Given the description of an element on the screen output the (x, y) to click on. 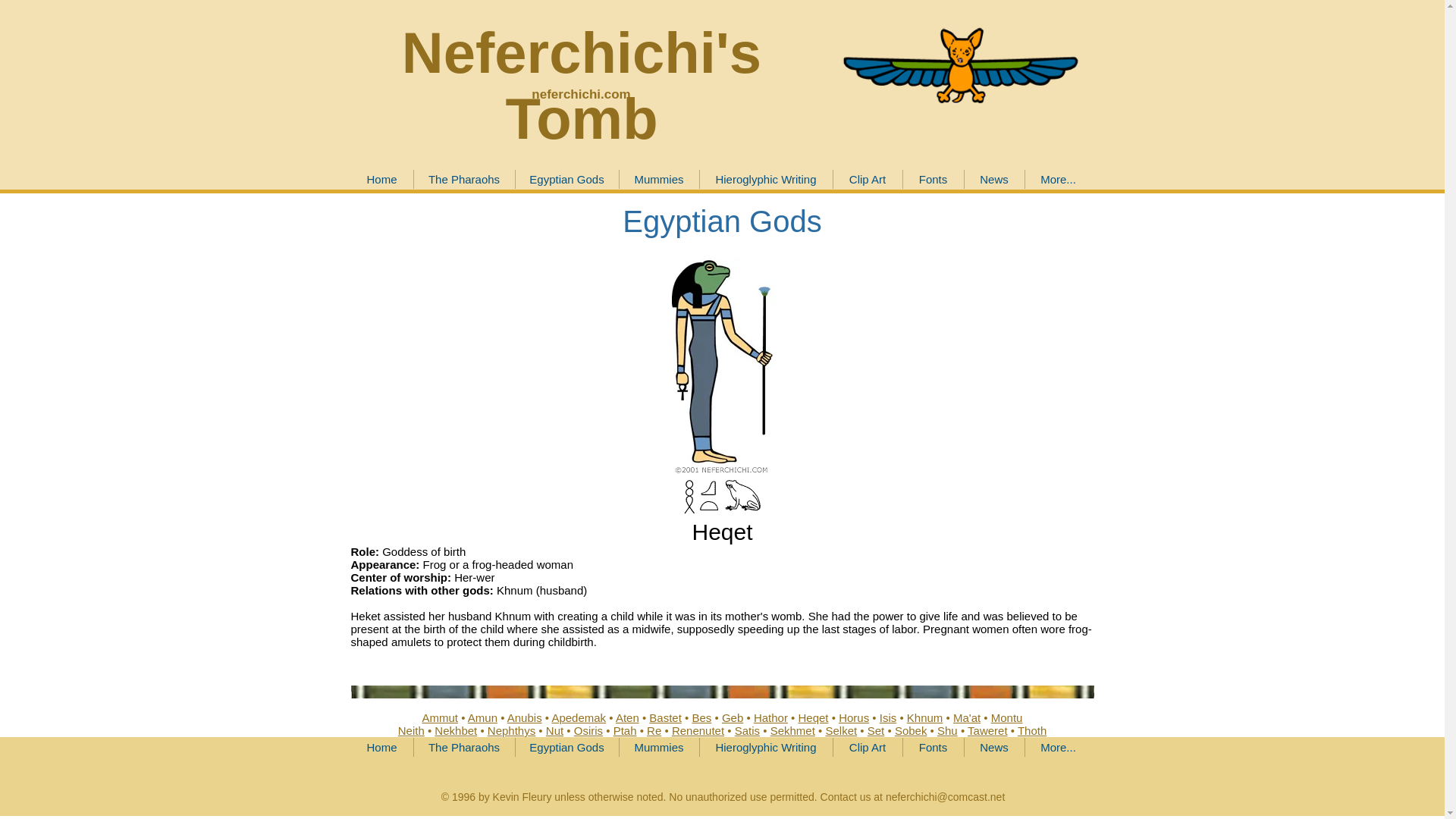
Amun (482, 717)
Set (876, 730)
Ptah (624, 730)
Nut (554, 730)
Anubis (523, 717)
Neith (411, 730)
Horus (853, 717)
Khnum (925, 717)
neferchichi logo.png (960, 65)
Fonts (932, 179)
